Given the description of an element on the screen output the (x, y) to click on. 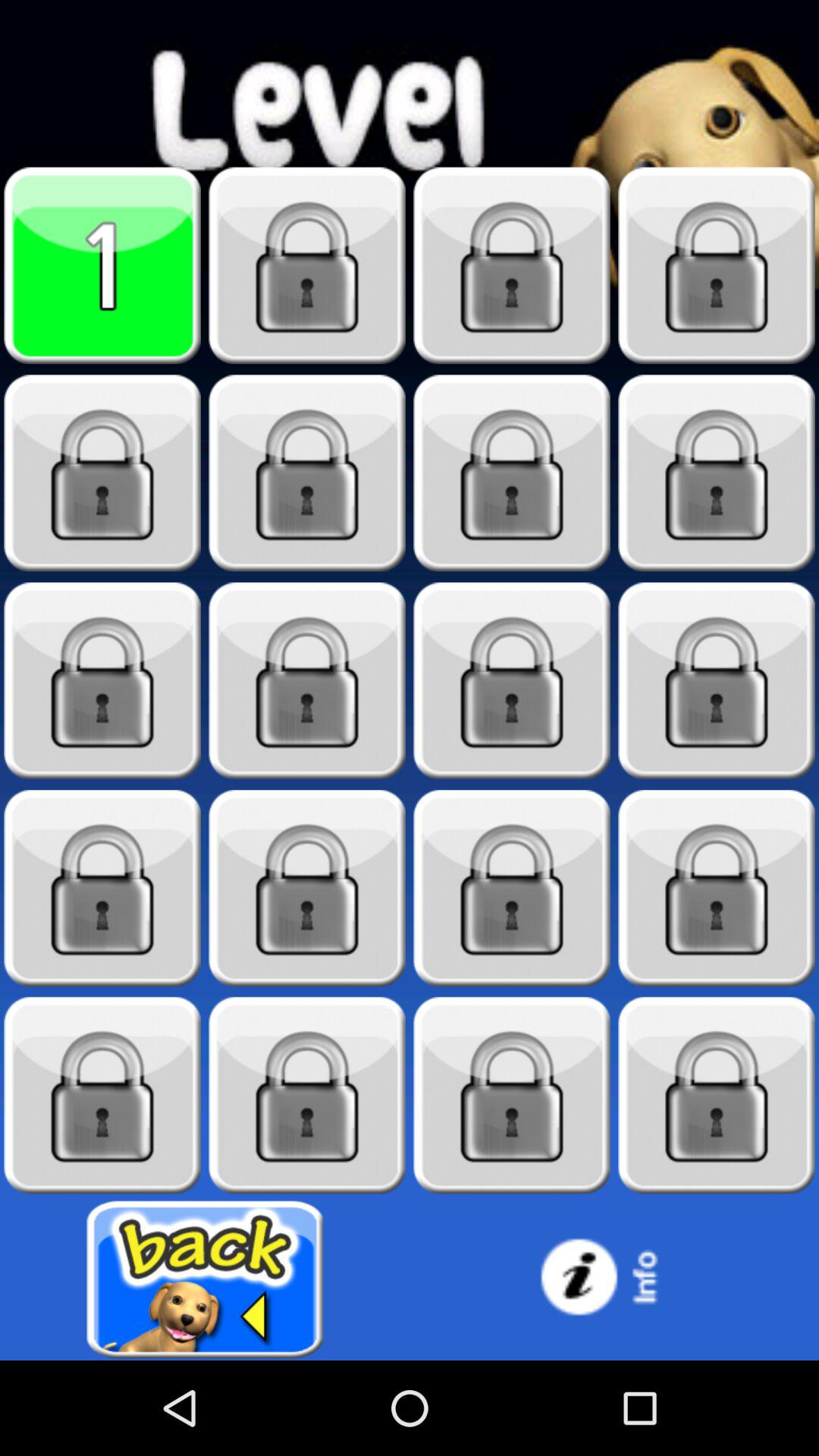
unclock new level (716, 1094)
